Given the description of an element on the screen output the (x, y) to click on. 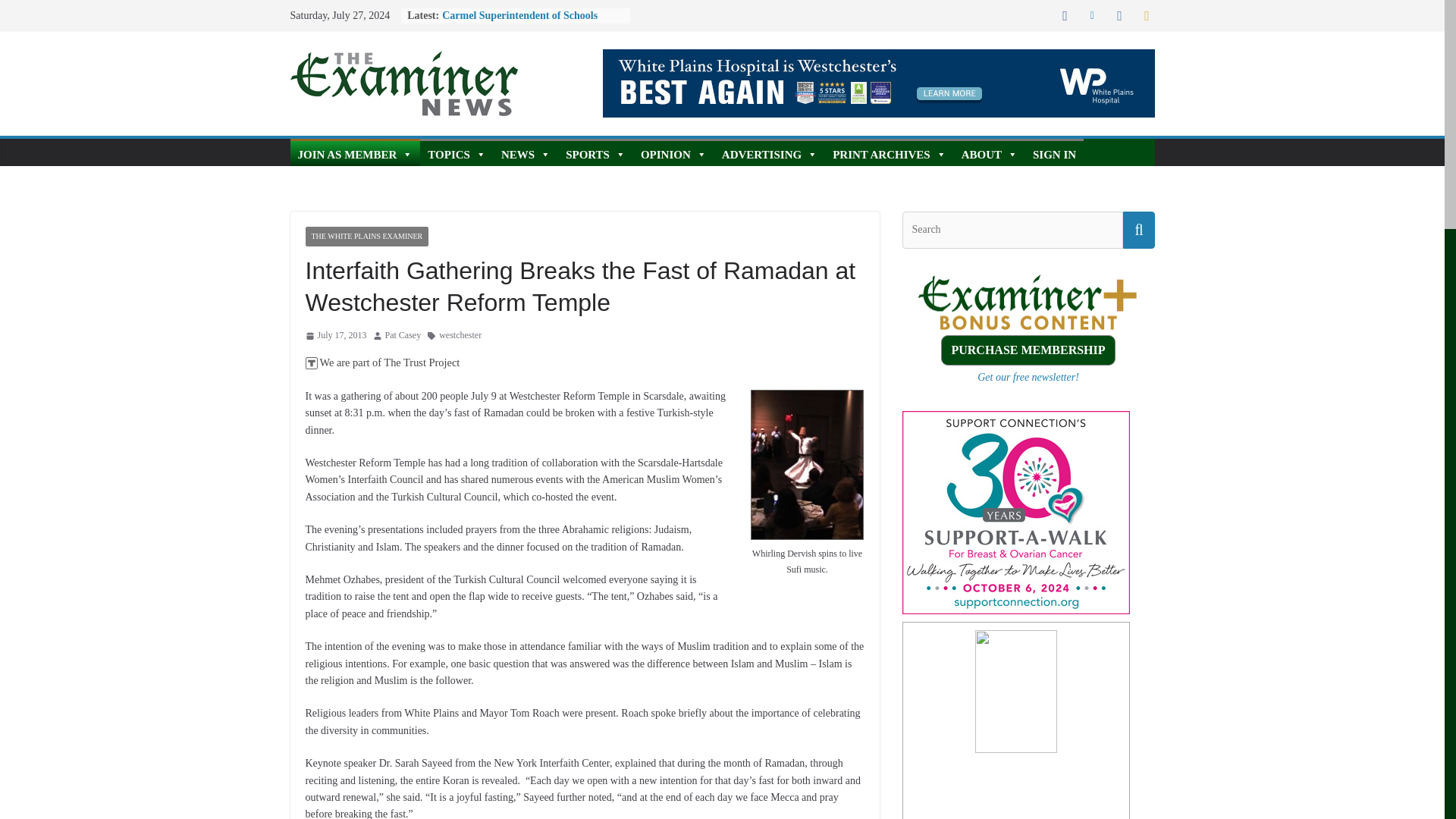
TOPICS (456, 152)
White Plains Hospital (878, 83)
Pat Casey (403, 335)
NEWS (525, 152)
6:50 am (335, 335)
JOIN AS MEMBER (354, 152)
